Given the description of an element on the screen output the (x, y) to click on. 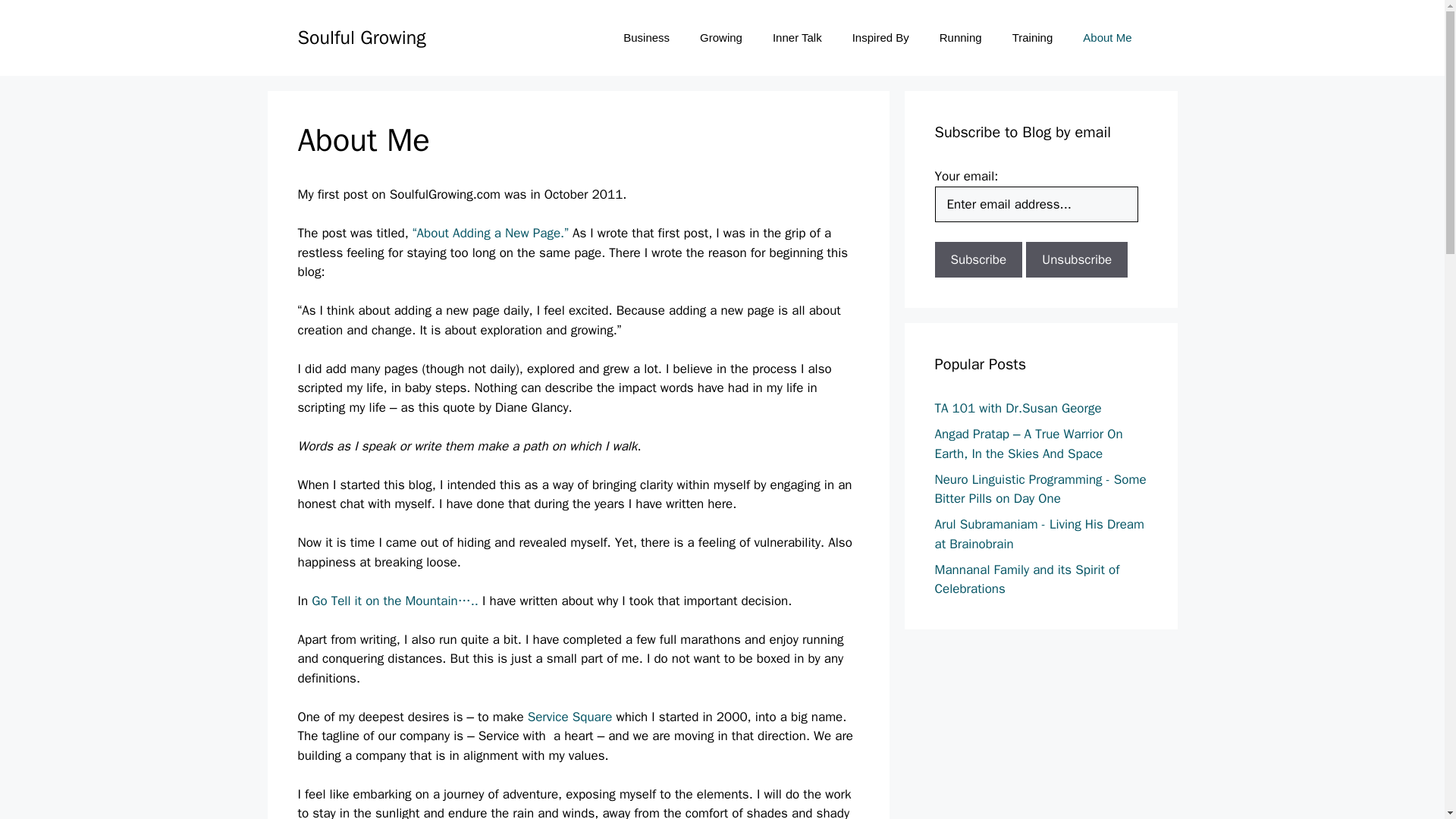
About Me (1107, 37)
Arul Subramaniam - Living His Dream at Brainobrain (1038, 534)
Service Square (571, 716)
Training (1032, 37)
Running (960, 37)
TA 101 with Dr.Susan George (1017, 408)
Neuro Linguistic Programming - Some Bitter Pills on Day One (1039, 488)
Unsubscribe (1076, 258)
Inner Talk (797, 37)
Subscribe (978, 258)
